Given the description of an element on the screen output the (x, y) to click on. 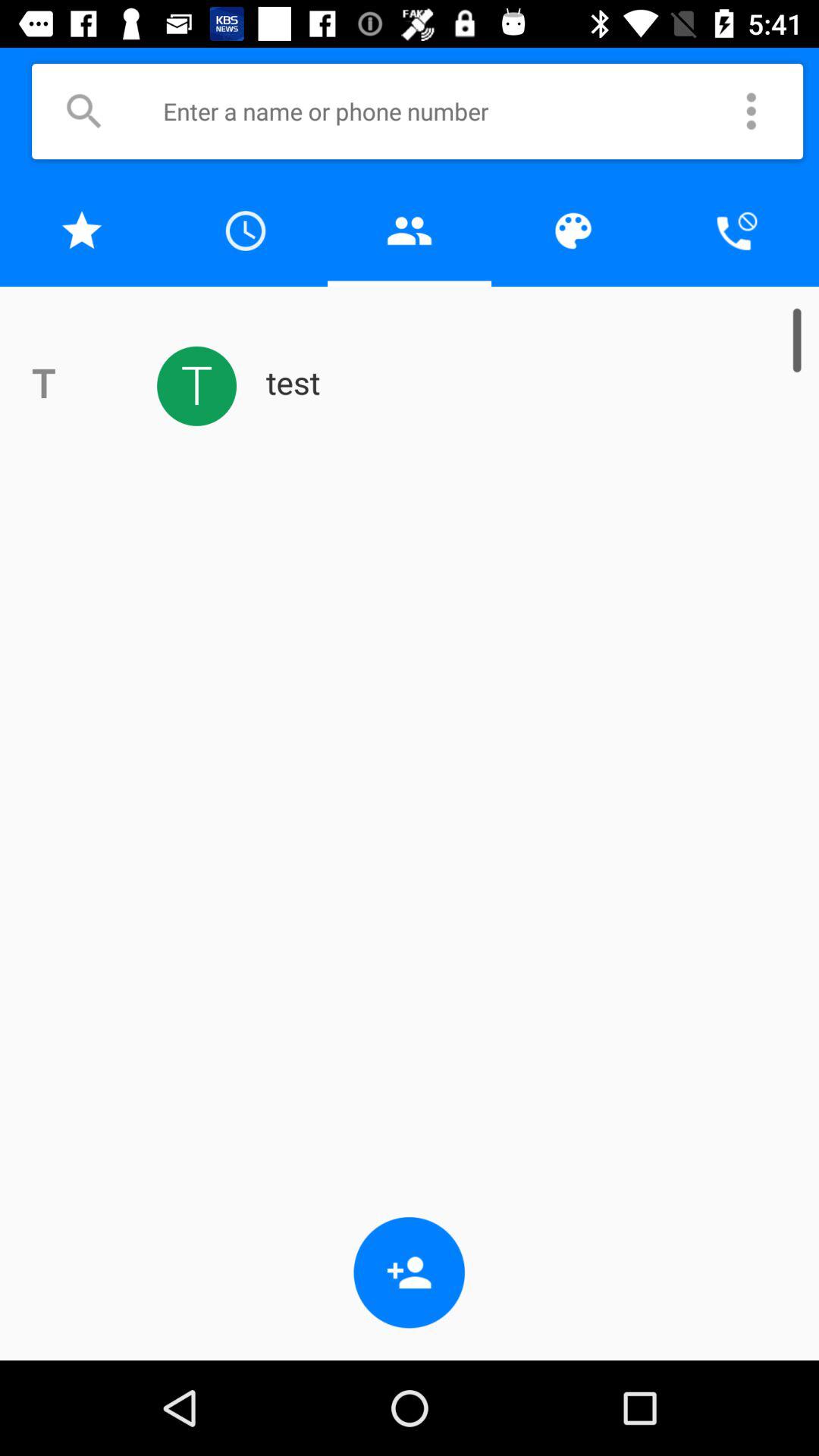
turn off the app below test (409, 1272)
